Given the description of an element on the screen output the (x, y) to click on. 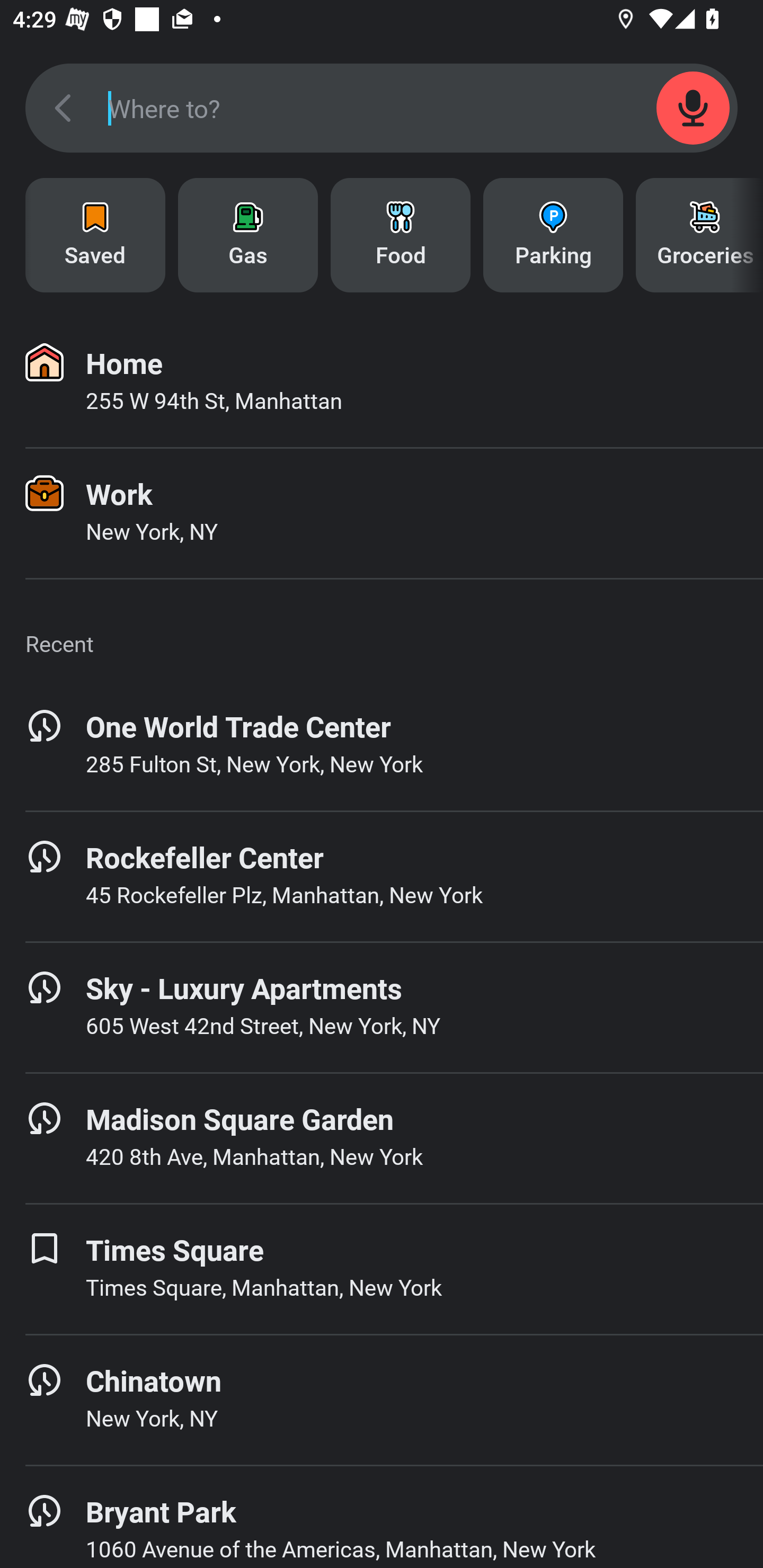
SEARCH_SCREEN_SEARCH_FIELD Where to? (381, 108)
Saved (95, 234)
Gas (247, 234)
Food (400, 234)
Parking (552, 234)
Groceries (699, 234)
Home 255 W 94th St, Manhattan (381, 382)
Work New York, NY (381, 513)
Times Square Times Square, Manhattan, New York (381, 1269)
Chinatown New York, NY (381, 1399)
